Given the description of an element on the screen output the (x, y) to click on. 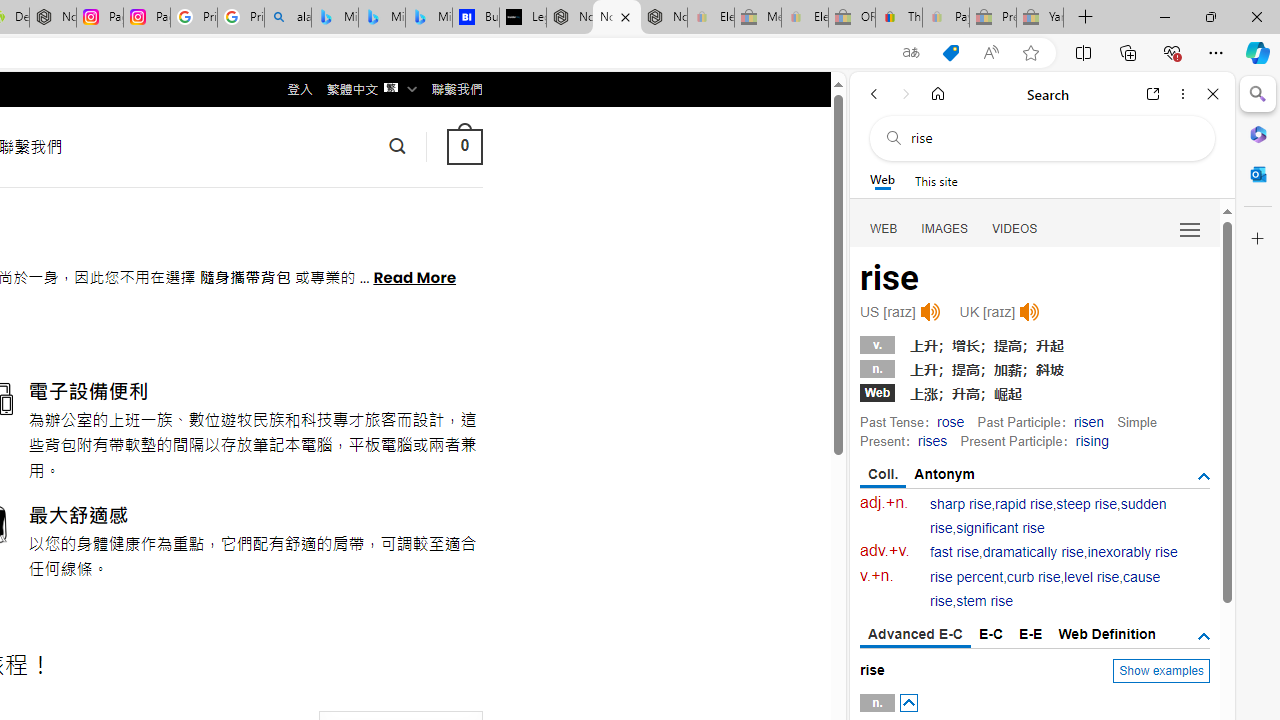
AutomationID: posbtn_0 (908, 703)
Threats and offensive language policy | eBay (898, 17)
Search the web (1051, 137)
IMAGES (944, 228)
significant rise (1000, 528)
Open link in new tab (1153, 93)
Search Filter, VIDEOS (1015, 228)
AutomationID: tgsb (1203, 476)
